Given the description of an element on the screen output the (x, y) to click on. 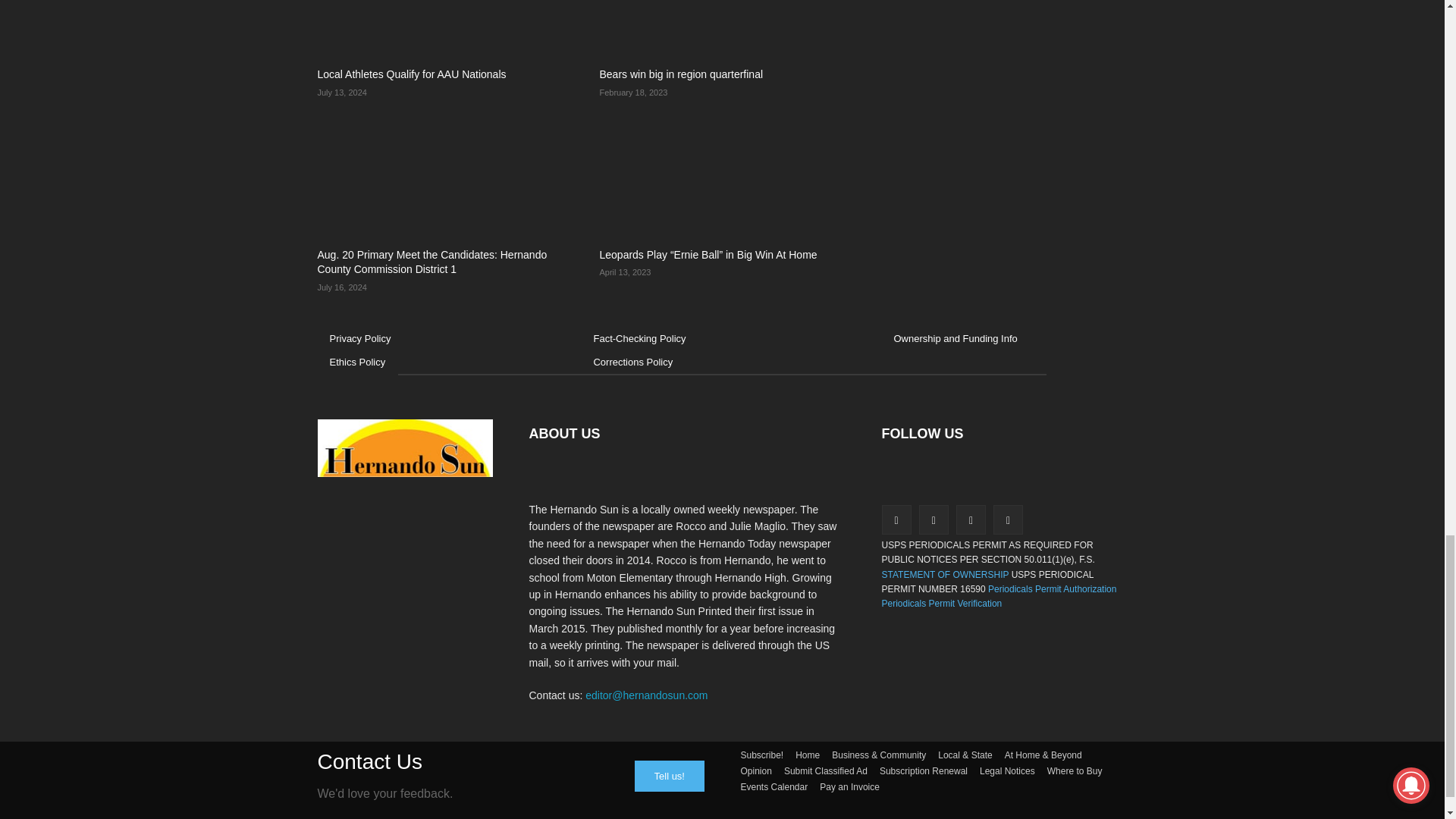
Local Athletes Qualify for AAU Nationals (439, 28)
